Given the description of an element on the screen output the (x, y) to click on. 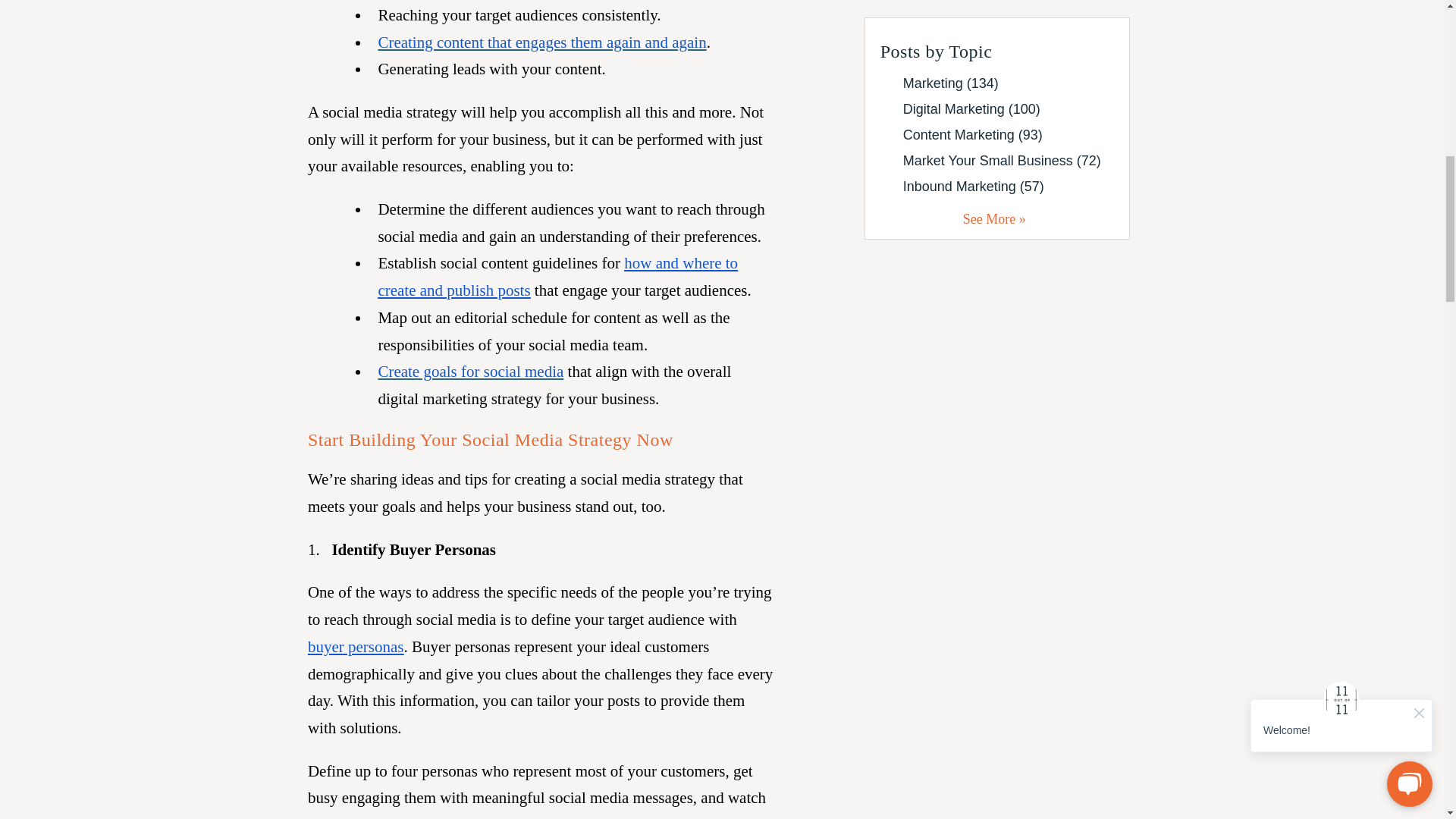
Create goals for social media (470, 371)
how and where to create and publish posts (557, 276)
Creating content that engages them again and again (541, 42)
buyer personas (355, 647)
